Given the description of an element on the screen output the (x, y) to click on. 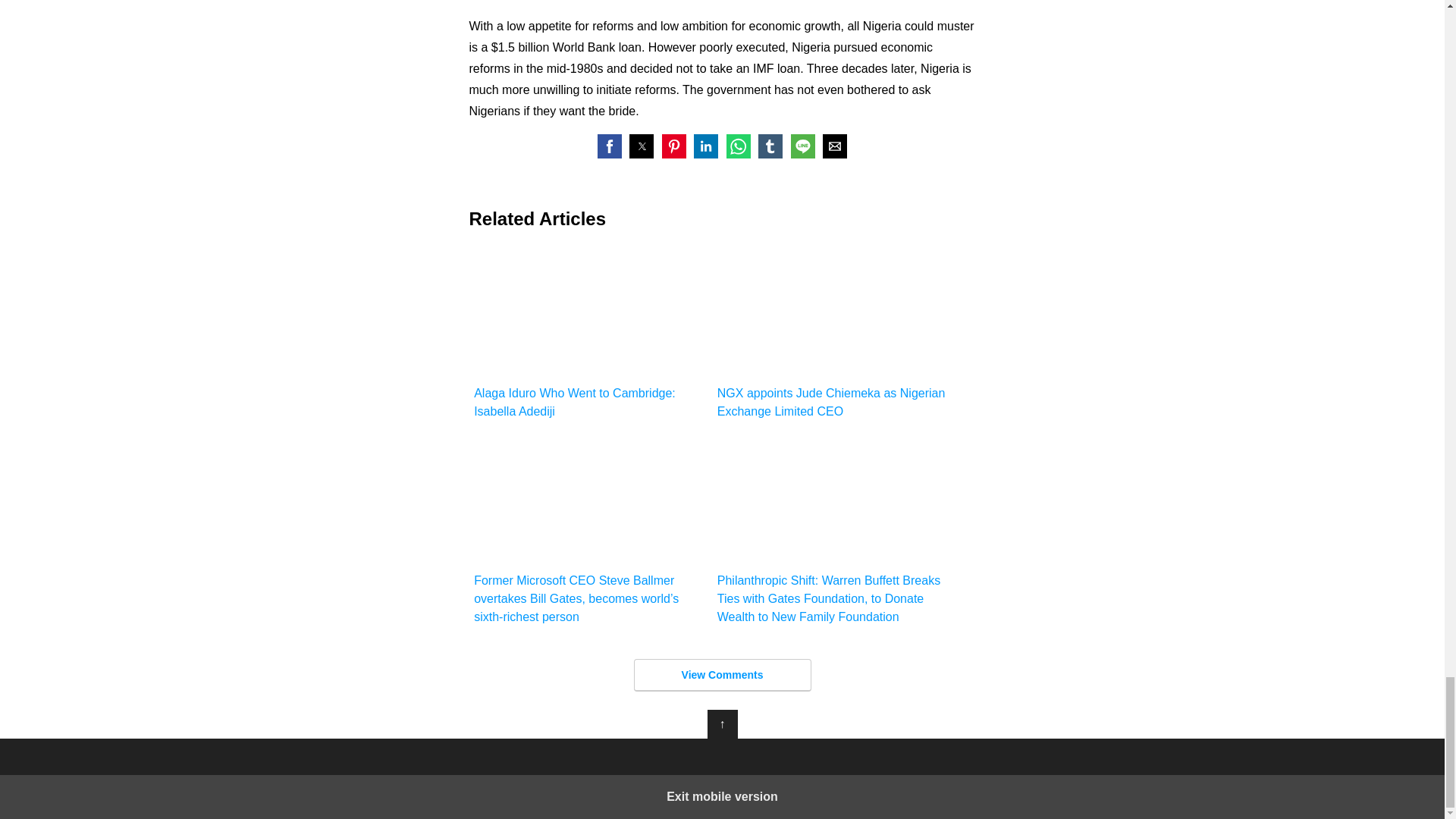
Alaga Iduro Who Went to Cambridge: Isabella Adediji (590, 334)
View Comments (721, 675)
NGX appoints Jude Chiemeka as Nigerian Exchange Limited CEO (833, 334)
